Given the description of an element on the screen output the (x, y) to click on. 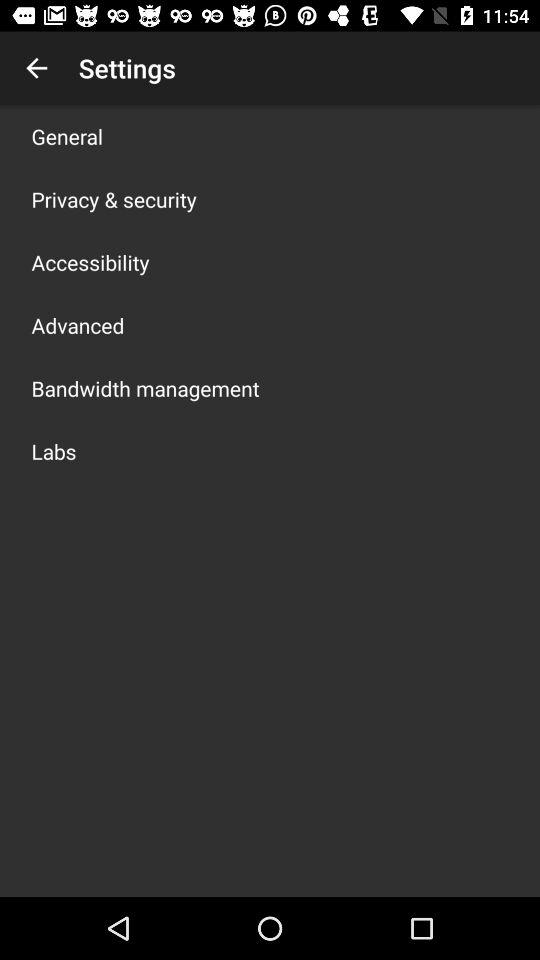
launch the app below bandwidth management app (53, 451)
